Given the description of an element on the screen output the (x, y) to click on. 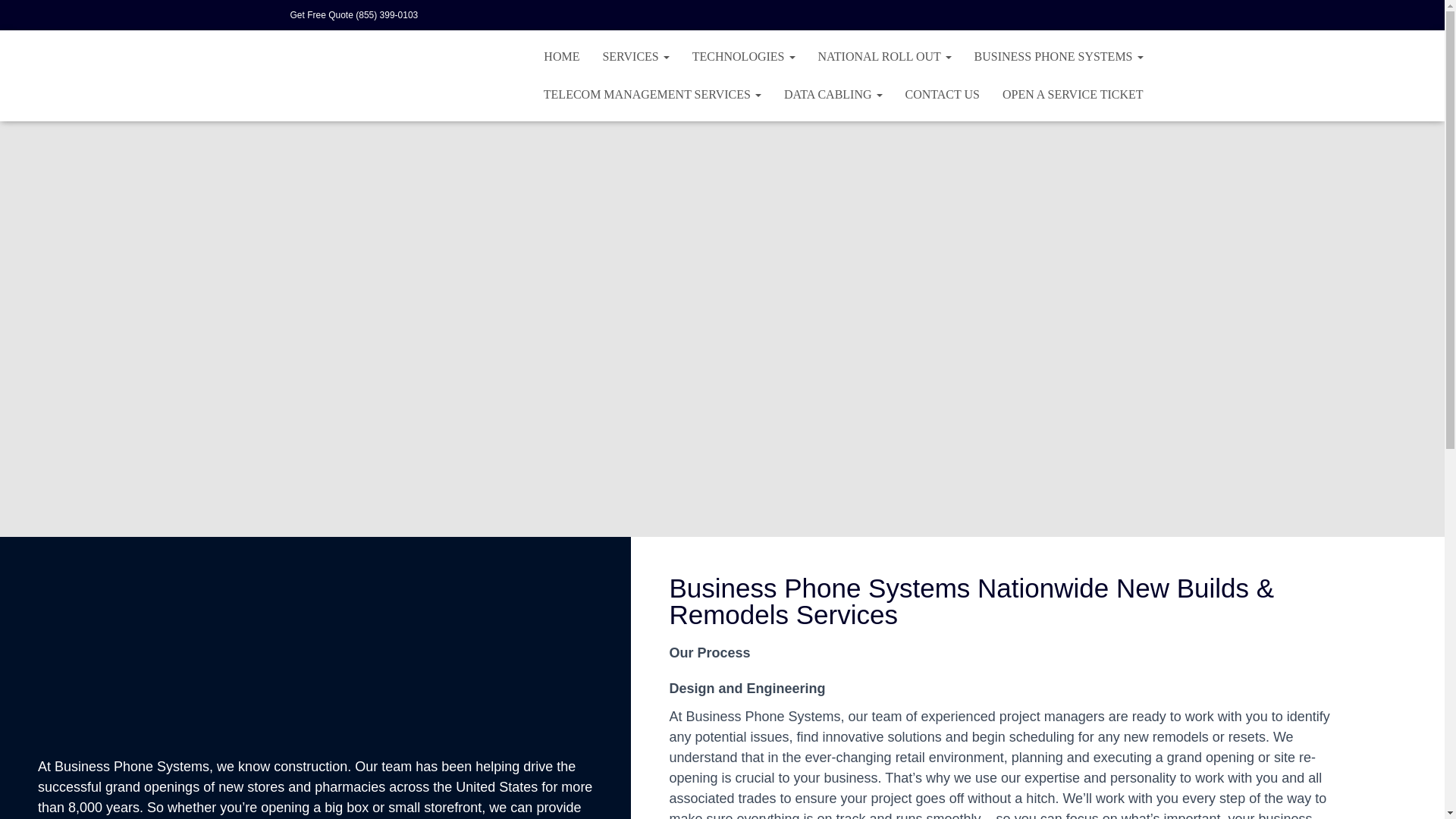
Technologies (743, 56)
SERVICES (635, 56)
TECHNOLOGIES (743, 56)
Services (635, 56)
HOME (561, 56)
Home (561, 56)
BUSINESS PHONE SYSTEMS (1058, 56)
NATIONAL ROLL OUT (884, 56)
